Given the description of an element on the screen output the (x, y) to click on. 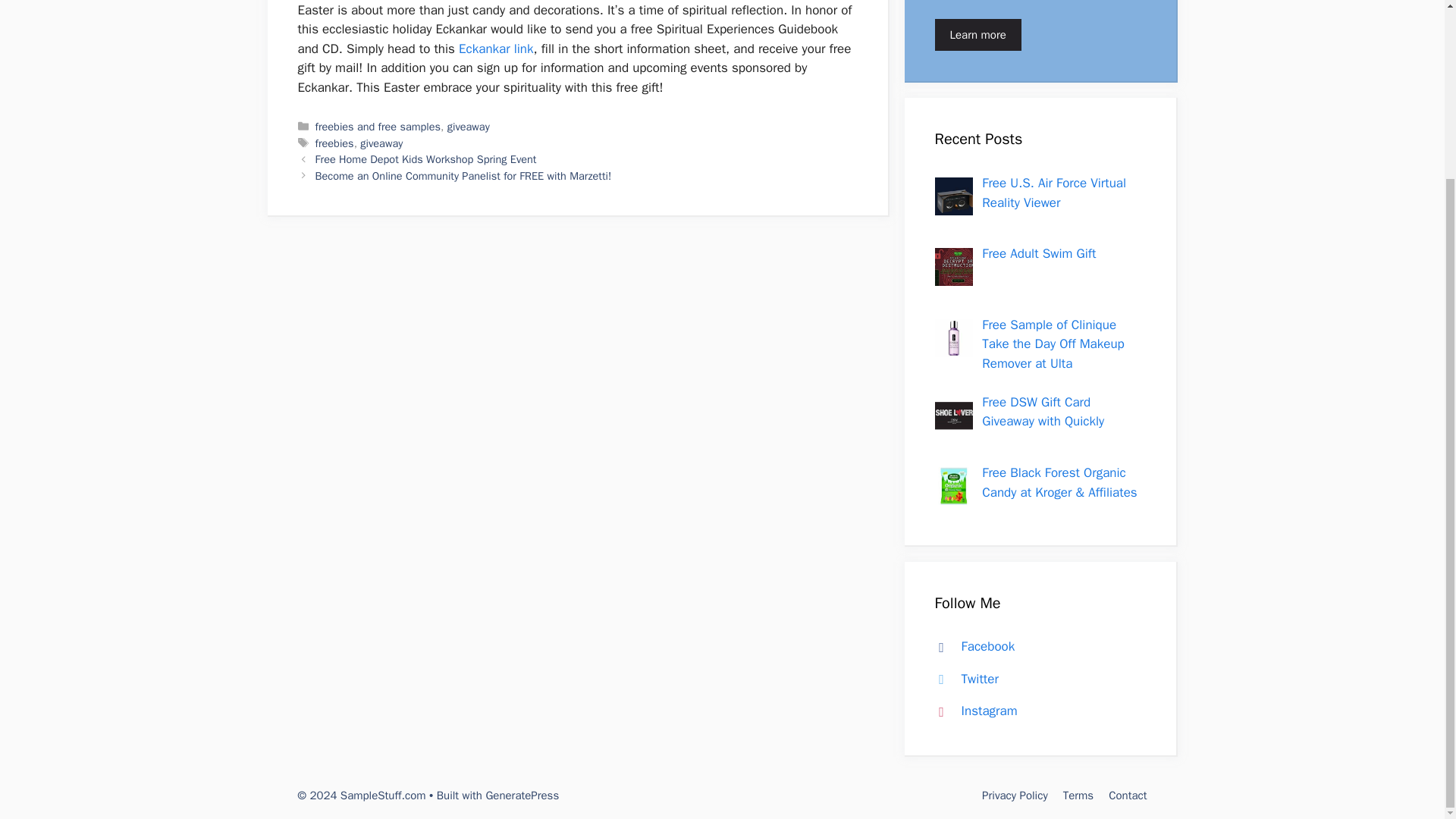
Twitter (962, 678)
Eckankar link (495, 48)
Contact (1127, 795)
freebies and free samples (378, 126)
Next (463, 175)
Become an Online Community Panelist for FREE with Marzetti! (463, 175)
Privacy Policy (1014, 795)
Facebook (971, 646)
Instagram (972, 710)
Free U.S. Air Force Virtual Reality Viewer (1053, 192)
Facebook (971, 646)
giveaway (381, 142)
giveaway (467, 126)
Free Home Depot Kids Workshop Spring Event (426, 159)
